Given the description of an element on the screen output the (x, y) to click on. 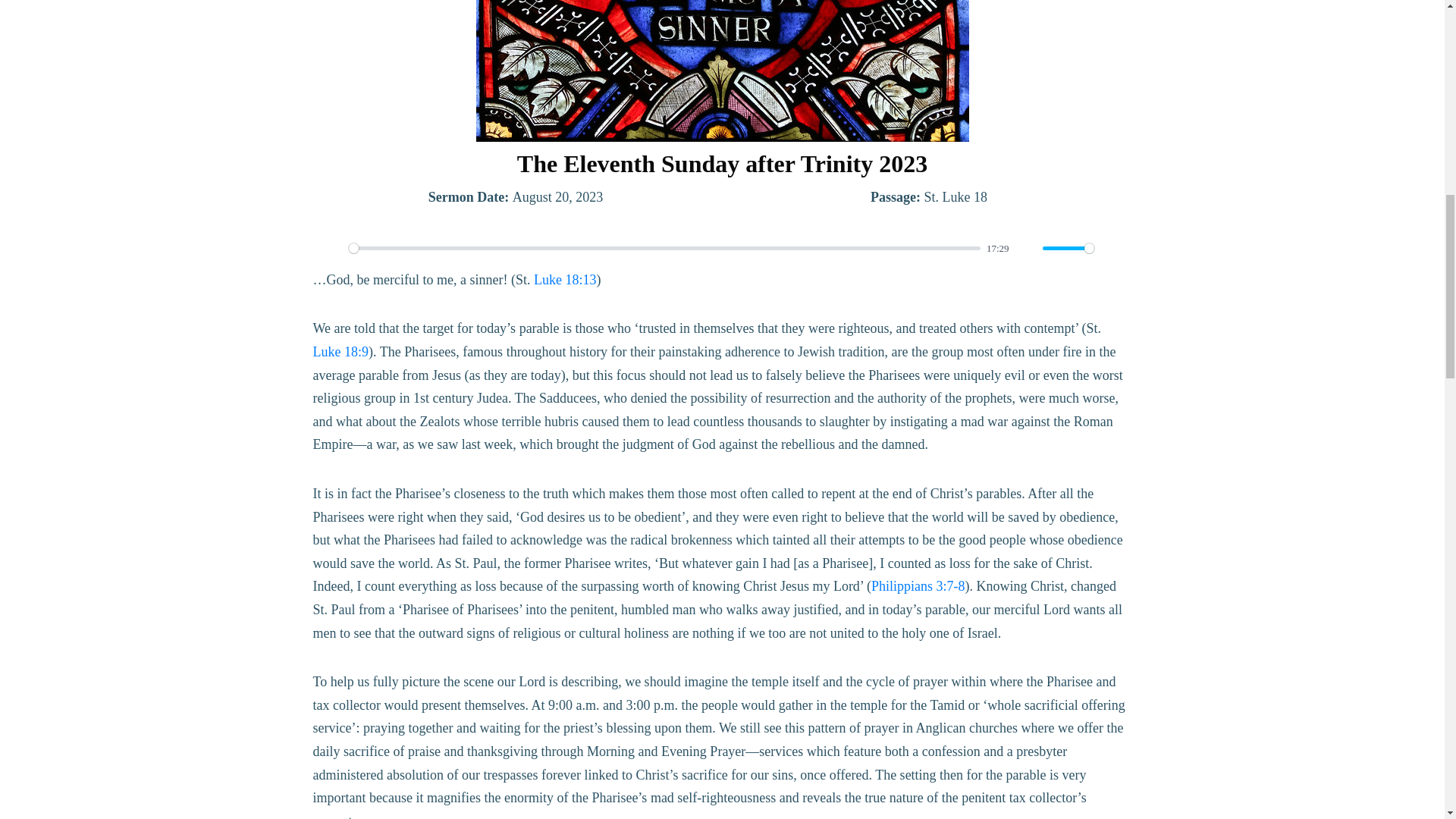
Settings (1111, 248)
Play (331, 248)
Mute (1026, 248)
Luke 18:9 (340, 351)
0 (665, 247)
Philippians 3:7-8 (917, 585)
Luke 18:13 (565, 279)
1 (1068, 247)
